Given the description of an element on the screen output the (x, y) to click on. 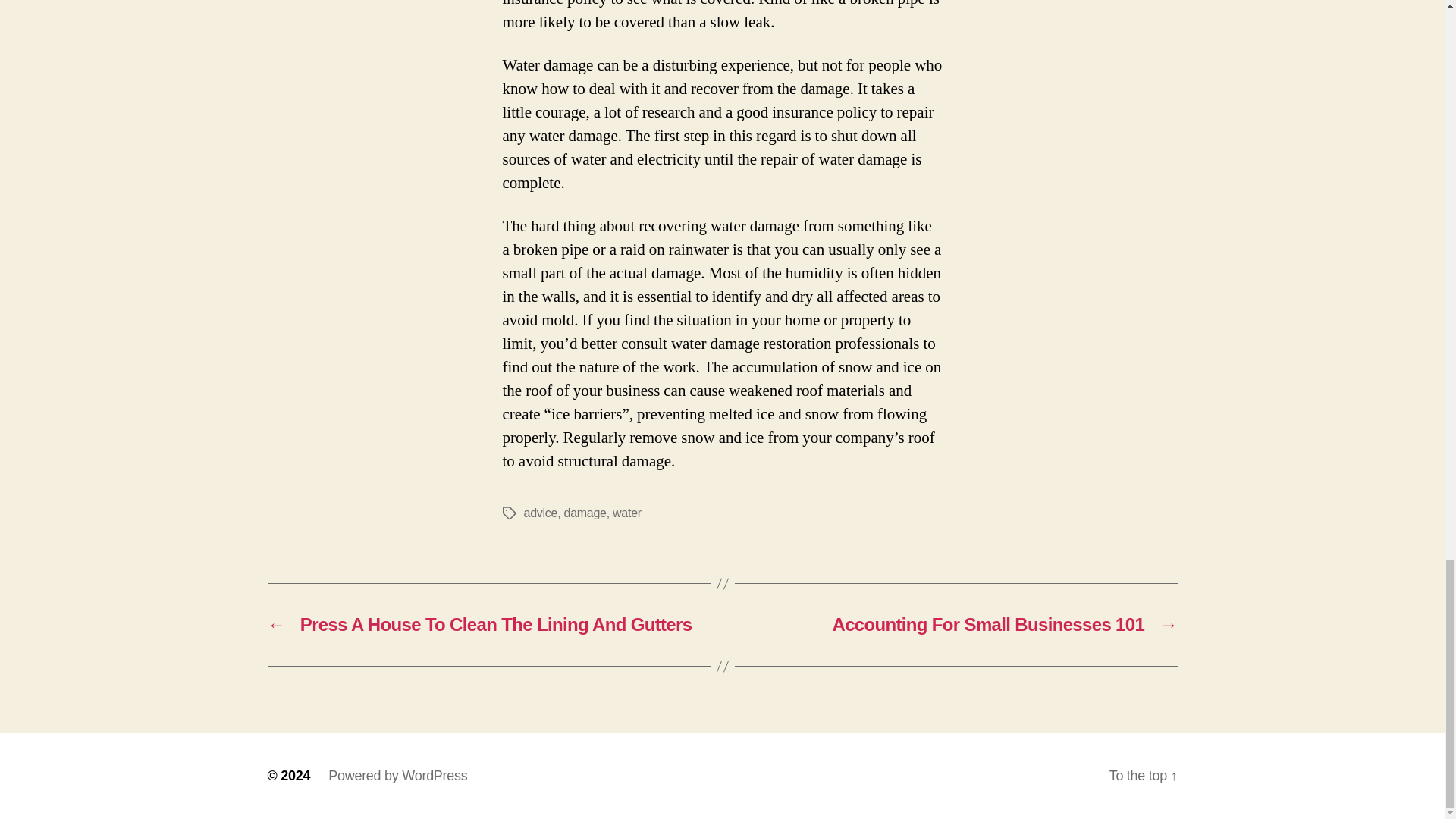
advice (539, 512)
Powered by WordPress (398, 775)
water (627, 512)
damage (585, 512)
